Given the description of an element on the screen output the (x, y) to click on. 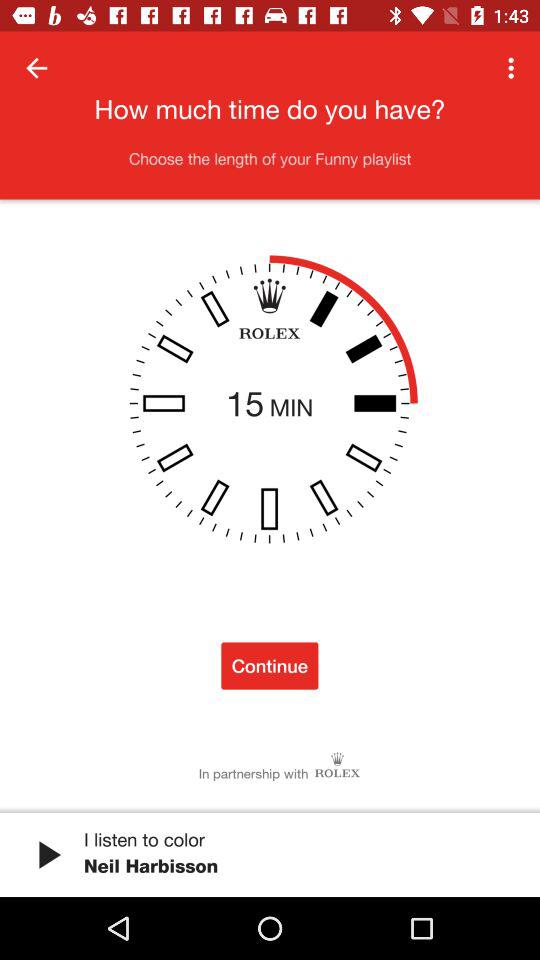
open continue icon (269, 665)
